Given the description of an element on the screen output the (x, y) to click on. 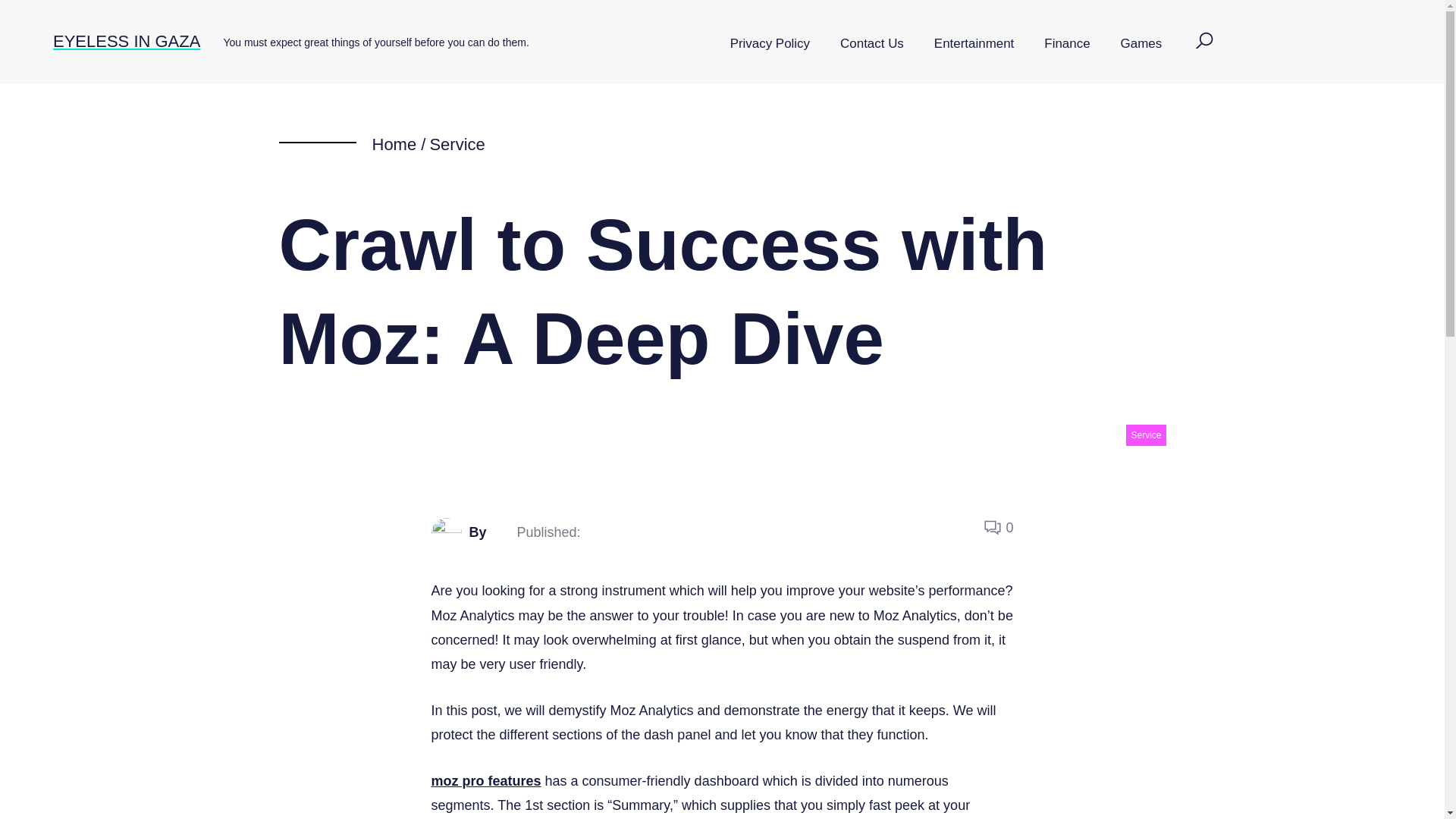
Finance (1067, 43)
Entertainment (973, 43)
Service (456, 144)
moz pro features (485, 780)
EYELESS IN GAZA (126, 40)
Service (1145, 435)
Contact Us (871, 43)
Privacy Policy (769, 43)
Games (1141, 43)
Home (393, 144)
